Given the description of an element on the screen output the (x, y) to click on. 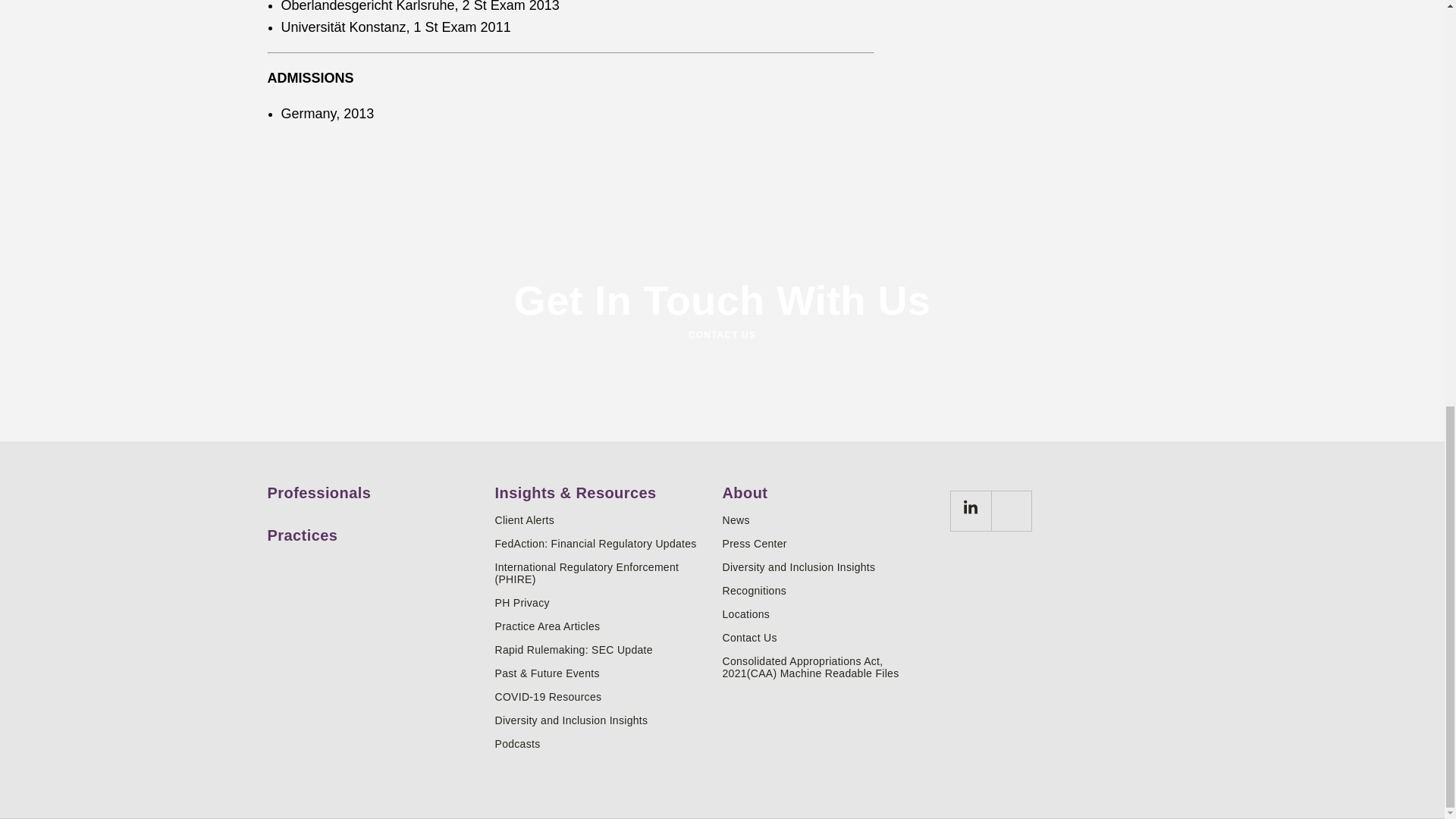
COVID-19 Resources (602, 696)
Client Alerts (602, 520)
Press Center (829, 543)
Recognitions (829, 590)
CB6A0679-7CD4-47AB-9AF9-079521319001Created with sketchtool. (969, 510)
Professionals (374, 486)
Podcasts (602, 743)
Practice Area Articles (602, 625)
News (829, 520)
Contact Us (829, 637)
